Given the description of an element on the screen output the (x, y) to click on. 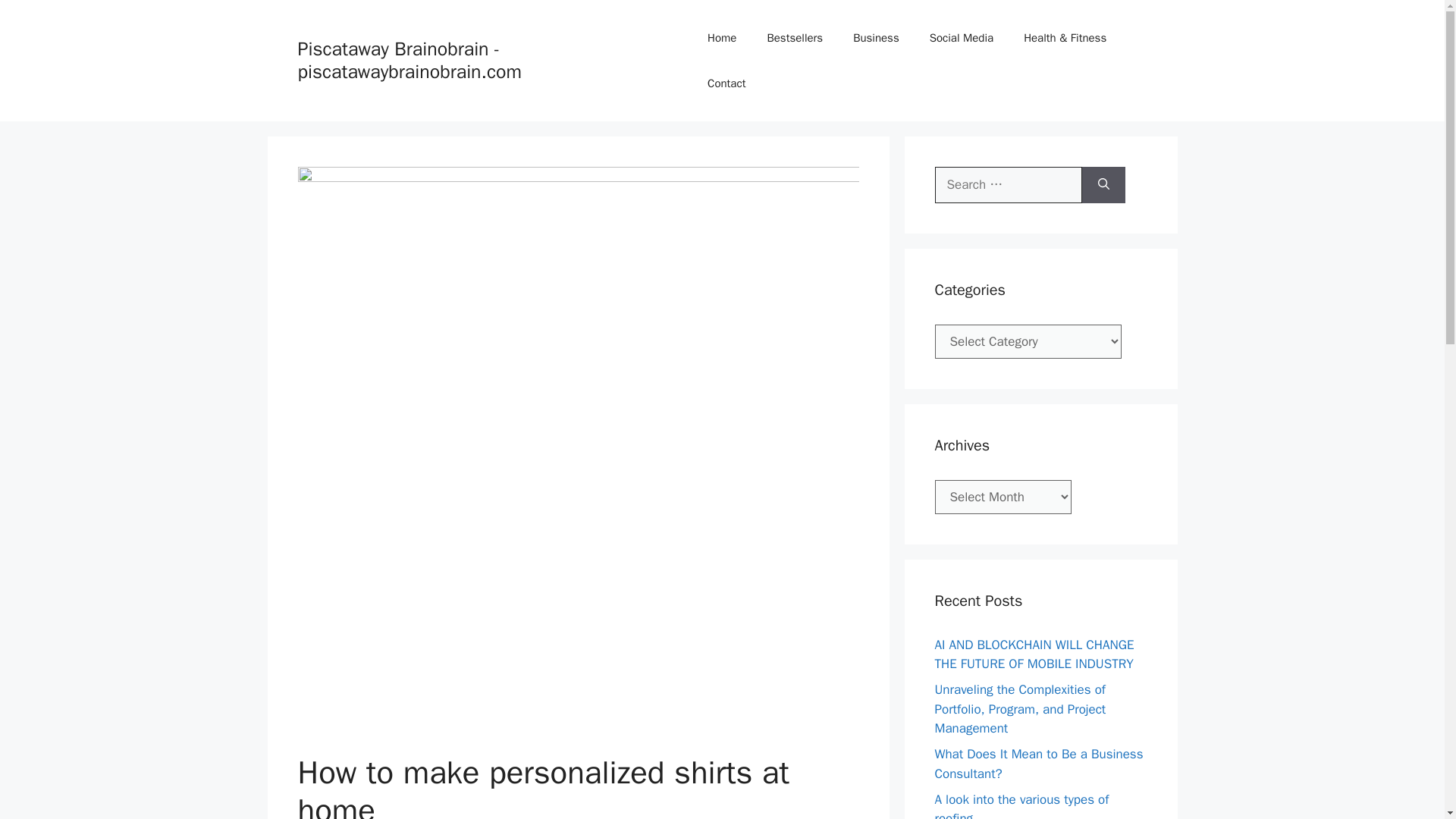
Bestsellers (794, 37)
A look into the various types of roofing (1021, 805)
Social Media (961, 37)
Search for: (1007, 185)
Piscataway Brainobrain - piscatawaybrainobrain.com (409, 59)
Business (876, 37)
Home (722, 37)
What Does It Mean to Be a Business Consultant? (1038, 764)
Contact (726, 83)
AI AND BLOCKCHAIN WILL CHANGE THE FUTURE OF MOBILE INDUSTRY (1034, 654)
